Given the description of an element on the screen output the (x, y) to click on. 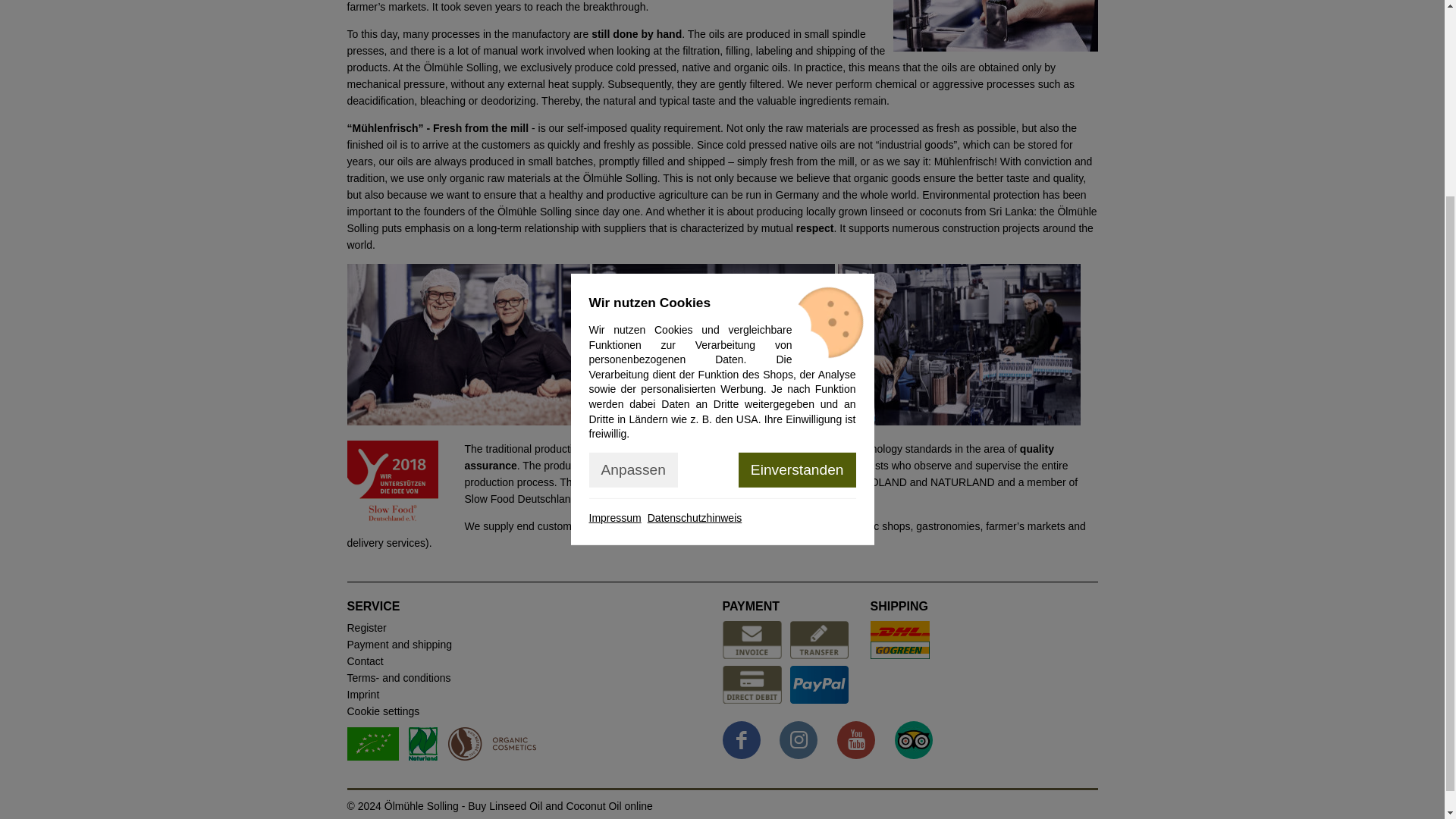
Manage Cookies (383, 711)
Contact (365, 661)
Register (367, 627)
Payment and shipping (399, 644)
Terms- and conditions (399, 677)
Imprint (363, 694)
